Given the description of an element on the screen output the (x, y) to click on. 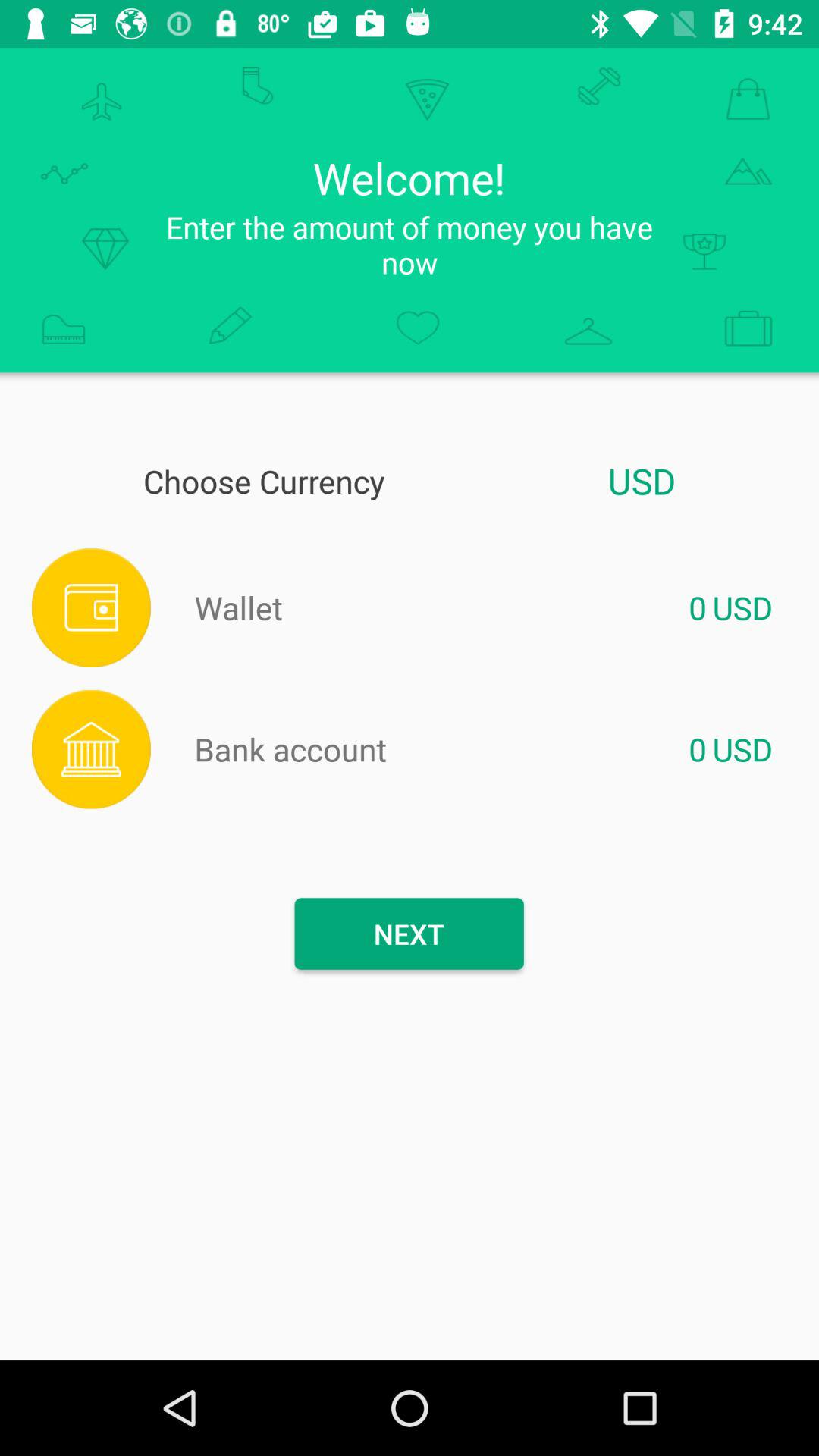
flip to the next item (408, 933)
